Given the description of an element on the screen output the (x, y) to click on. 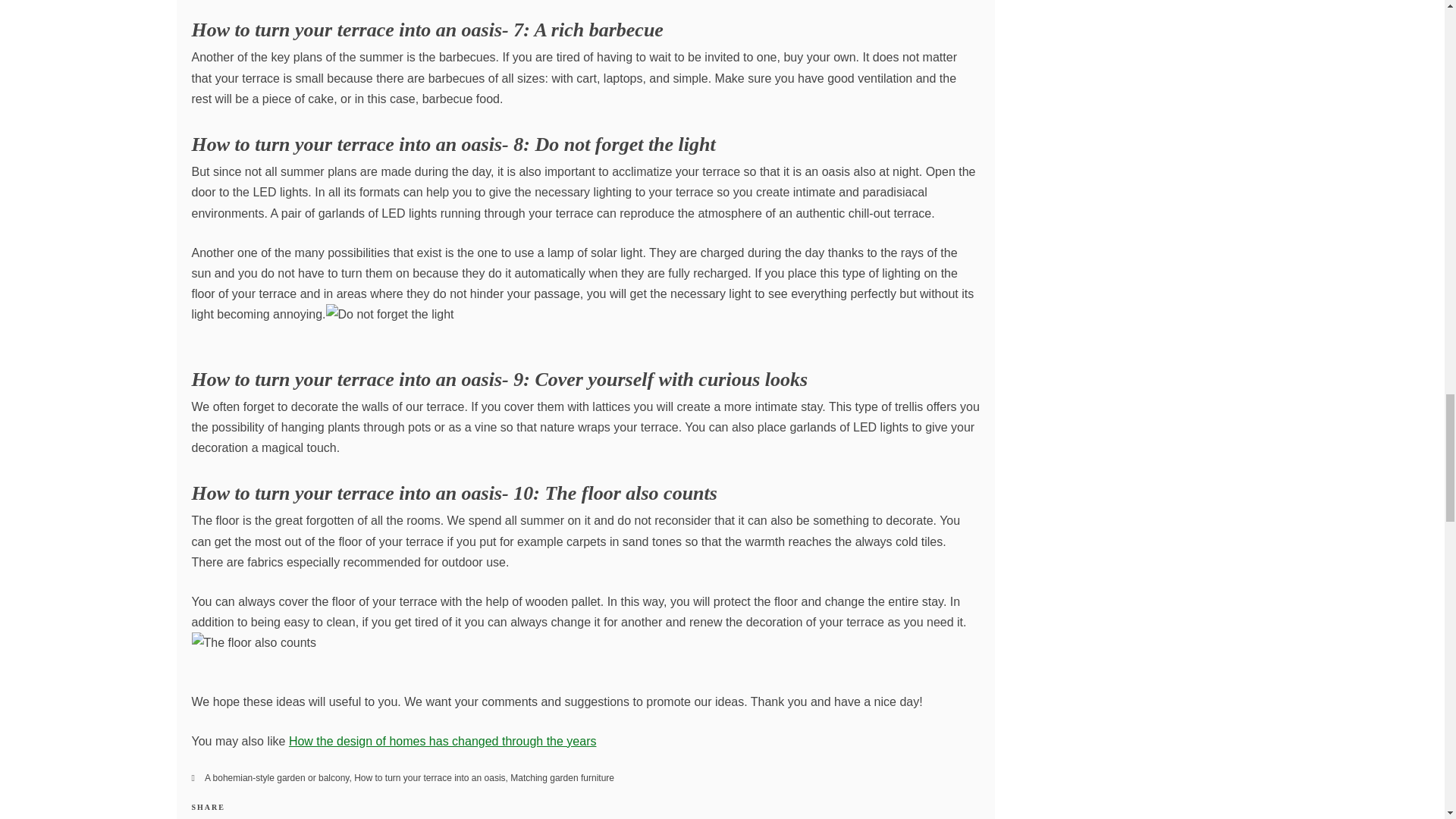
How the design of homes has changed through the years (442, 740)
The floor also counts (252, 642)
Do not forget the light (390, 313)
